Given the description of an element on the screen output the (x, y) to click on. 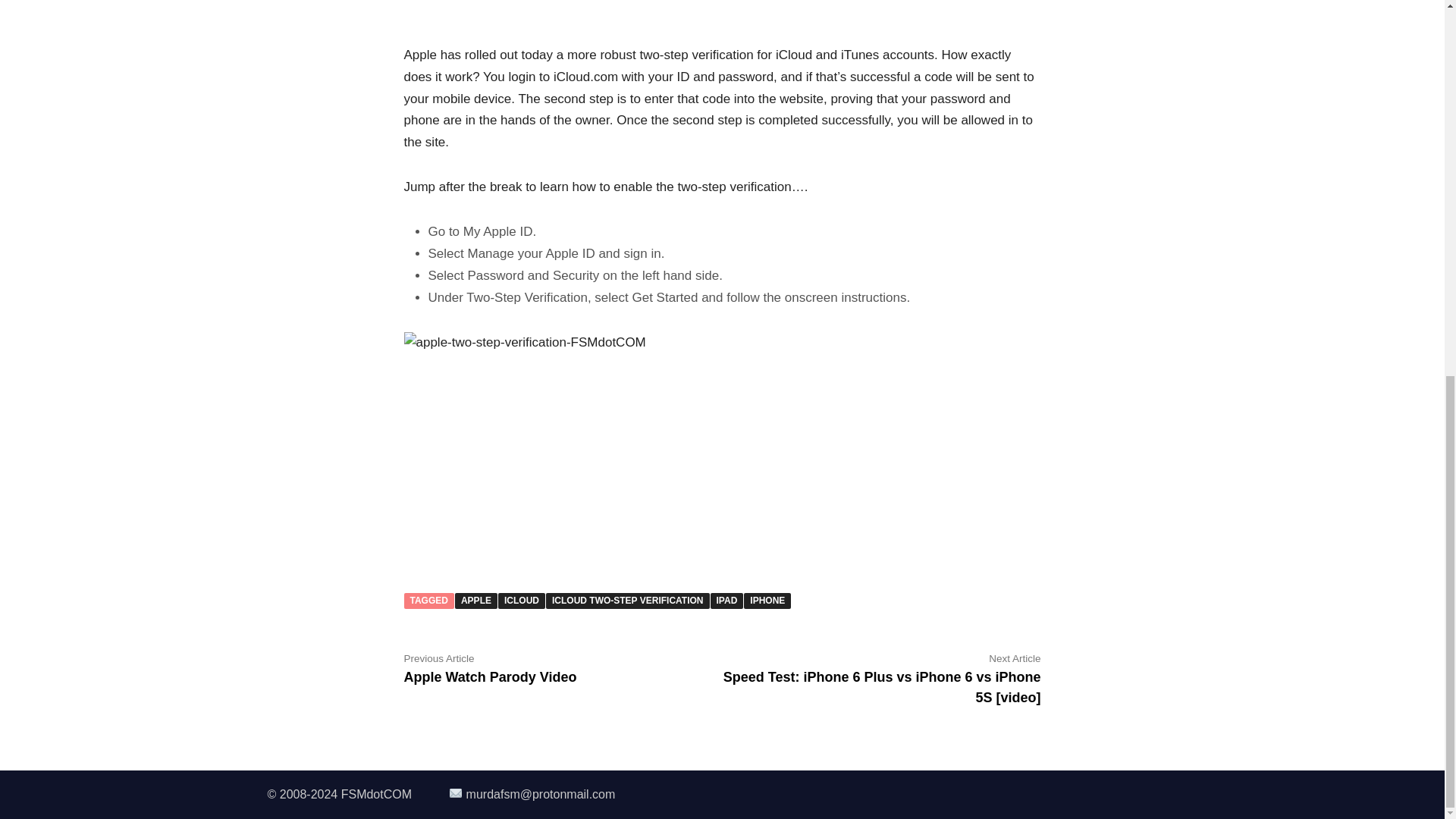
IPAD (727, 600)
ICLOUD TWO-STEP VERIFICATION (628, 600)
IPHONE (767, 600)
APPLE (489, 667)
ICLOUD (475, 600)
